Given the description of an element on the screen output the (x, y) to click on. 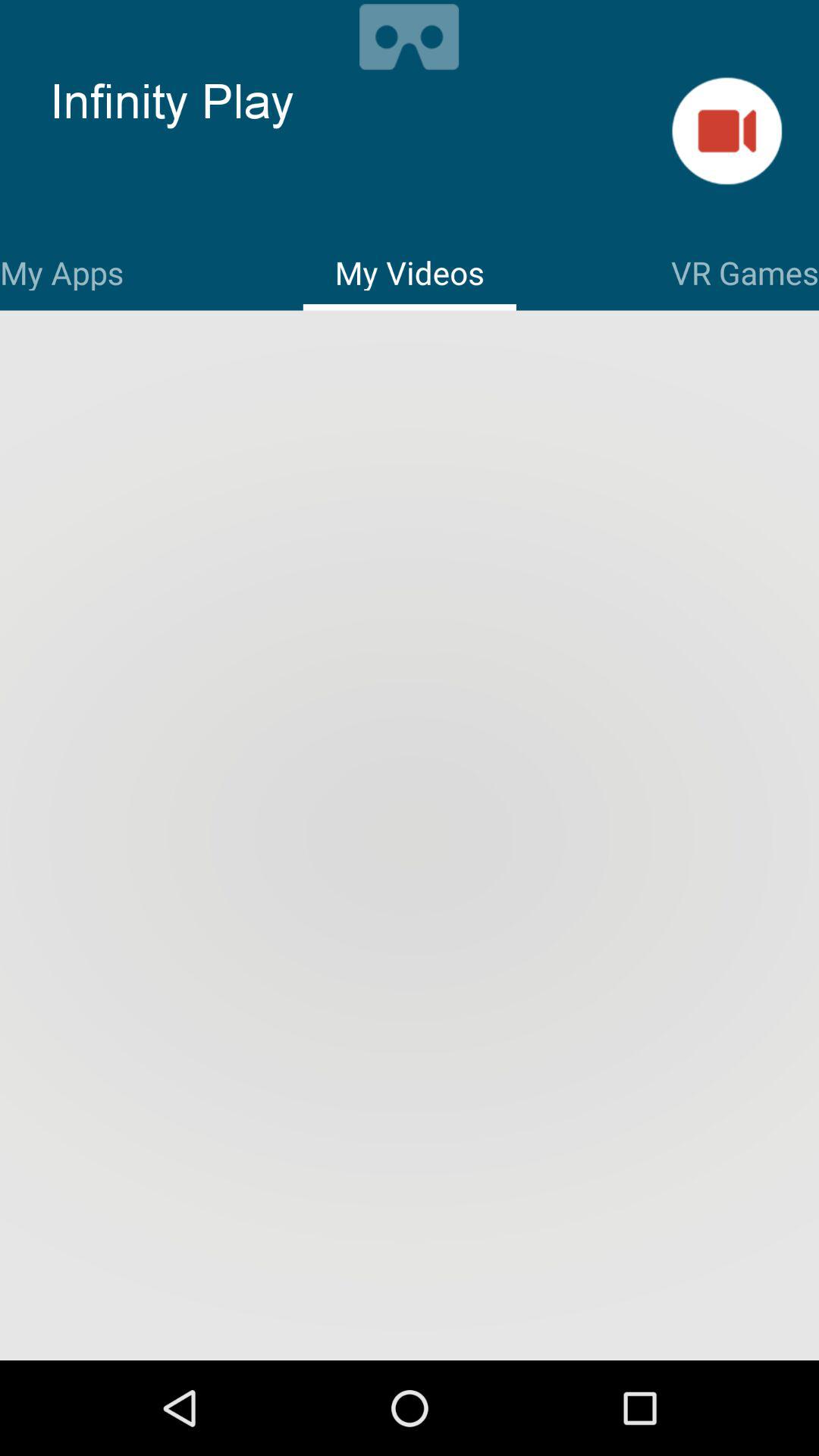
turn on vr games app (745, 270)
